Given the description of an element on the screen output the (x, y) to click on. 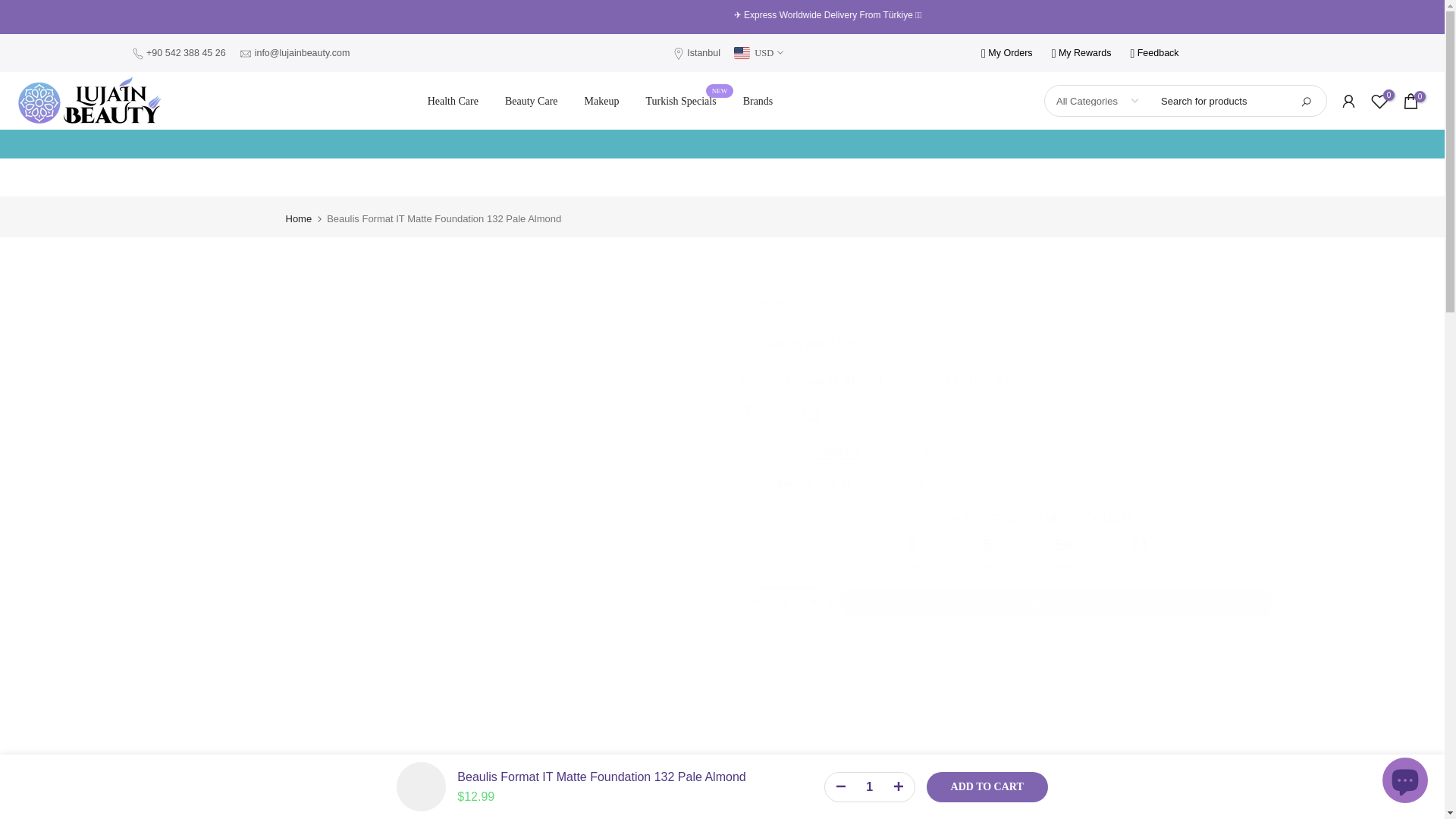
1 (869, 786)
USD (758, 52)
Beauty Care (680, 101)
Istanbul (531, 101)
My Orders (703, 52)
Shopify online store chat (1006, 52)
Skip to content (1404, 781)
Health Care (10, 7)
Feedback (452, 101)
